Given the description of an element on the screen output the (x, y) to click on. 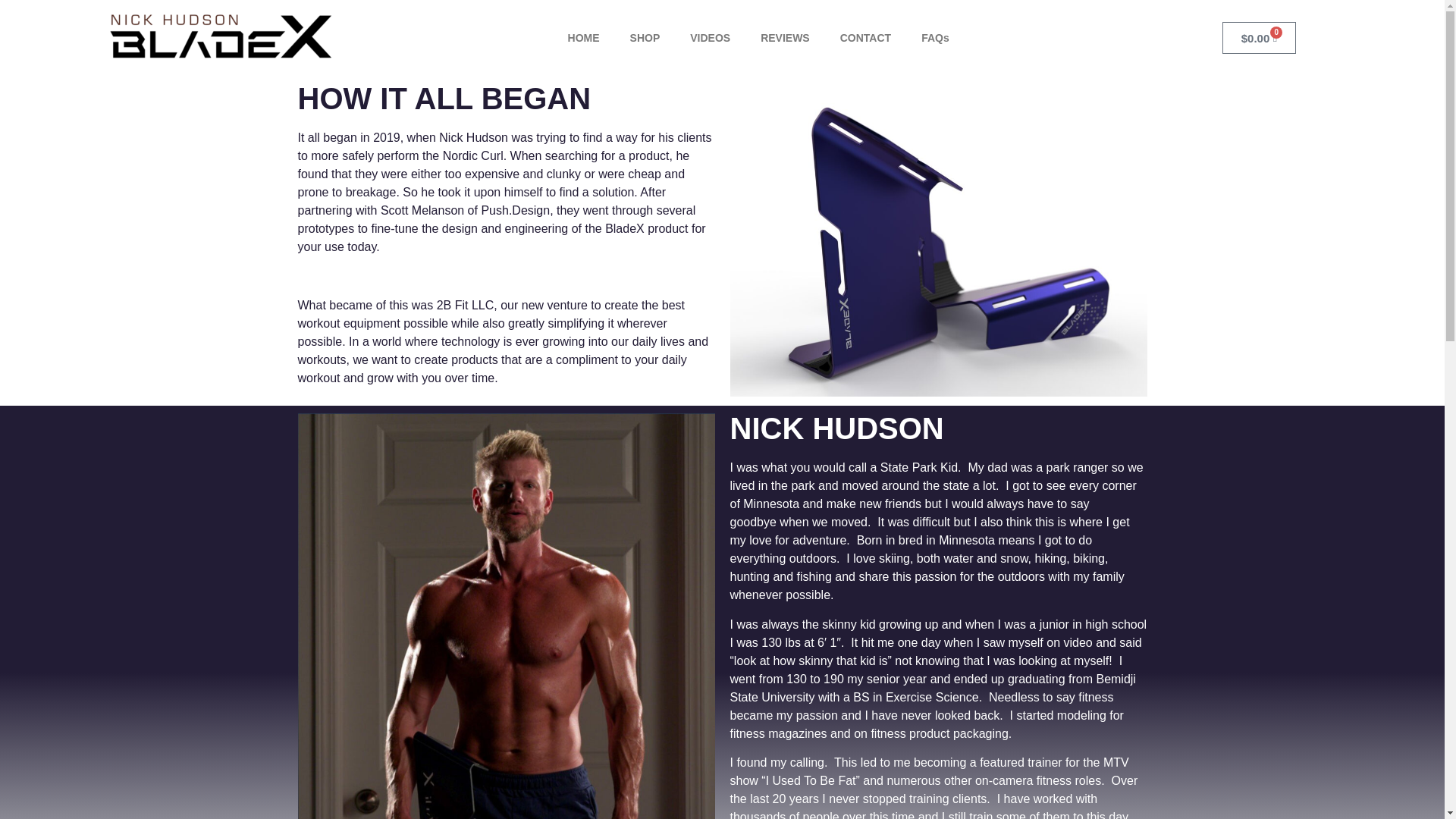
FAQs (934, 37)
CONTACT (865, 37)
REVIEWS (785, 37)
HOME (583, 37)
SHOP (644, 37)
VIDEOS (710, 37)
